Given the description of an element on the screen output the (x, y) to click on. 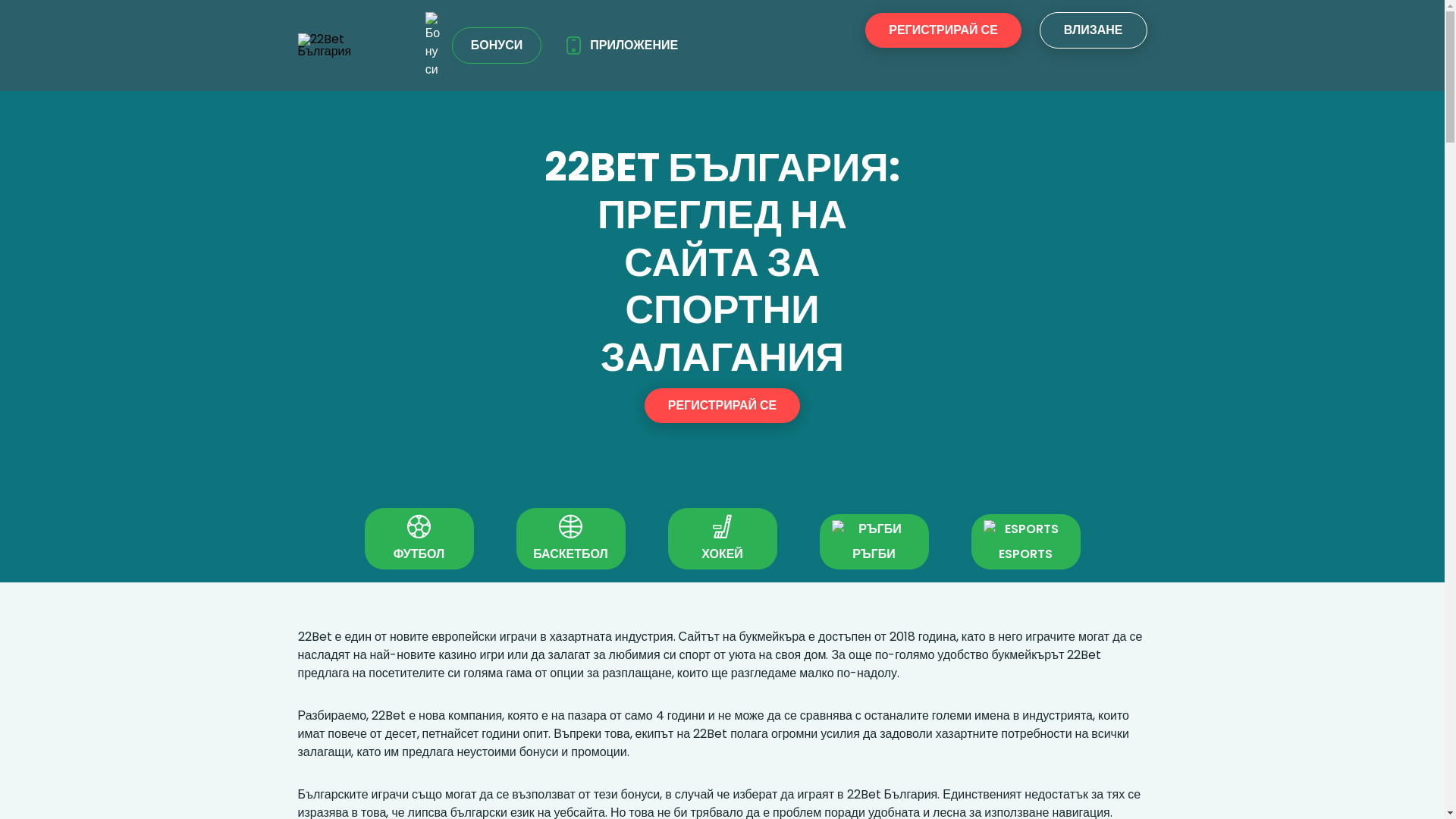
ESPORTS Element type: text (1024, 541)
eSports Element type: hover (1024, 529)
